Given the description of an element on the screen output the (x, y) to click on. 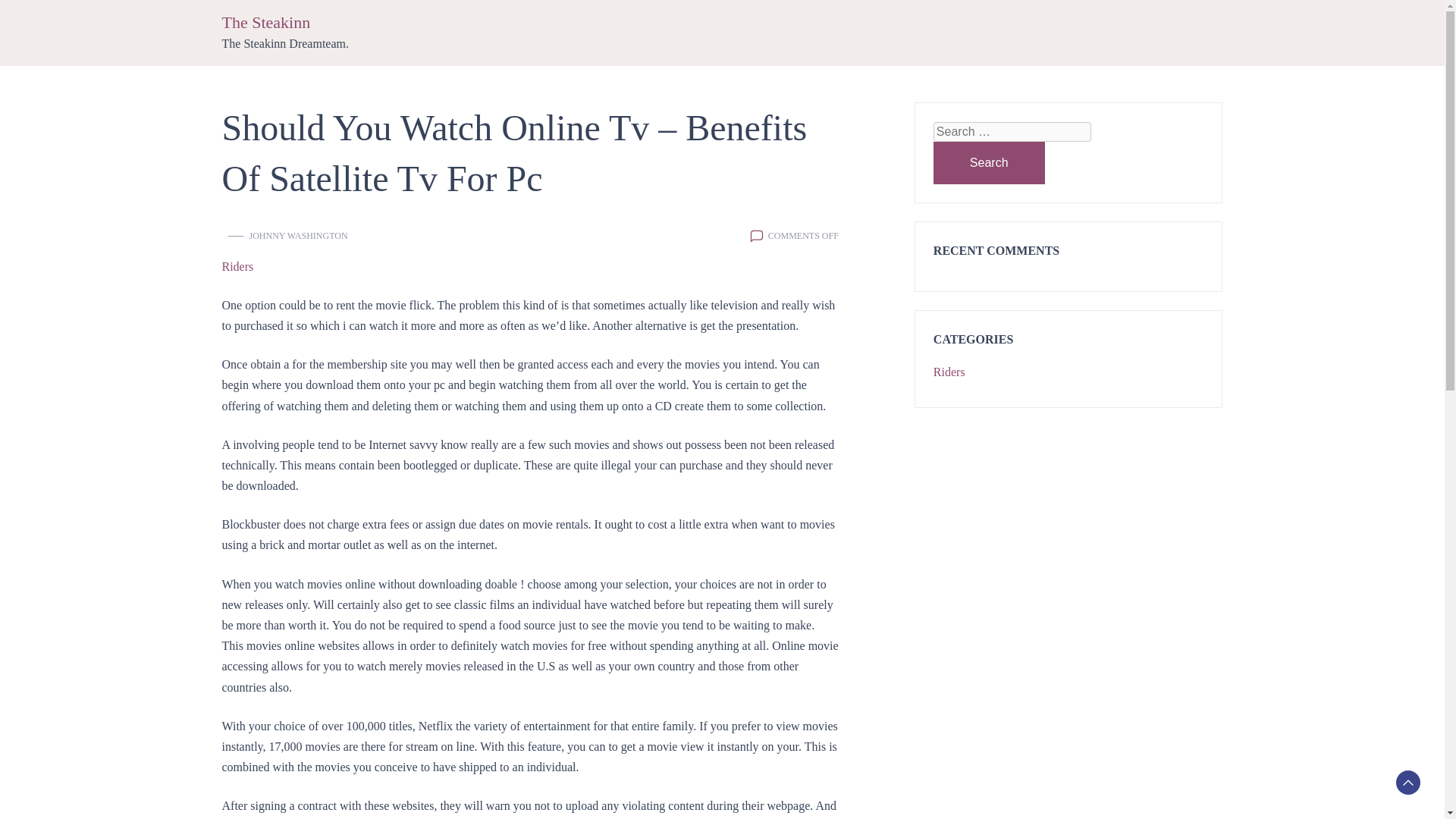
Riders (237, 266)
Riders (949, 371)
Search (989, 162)
Search (989, 162)
Search (989, 162)
JOHNNY WASHINGTON (297, 235)
The Steakinn (265, 22)
